Given the description of an element on the screen output the (x, y) to click on. 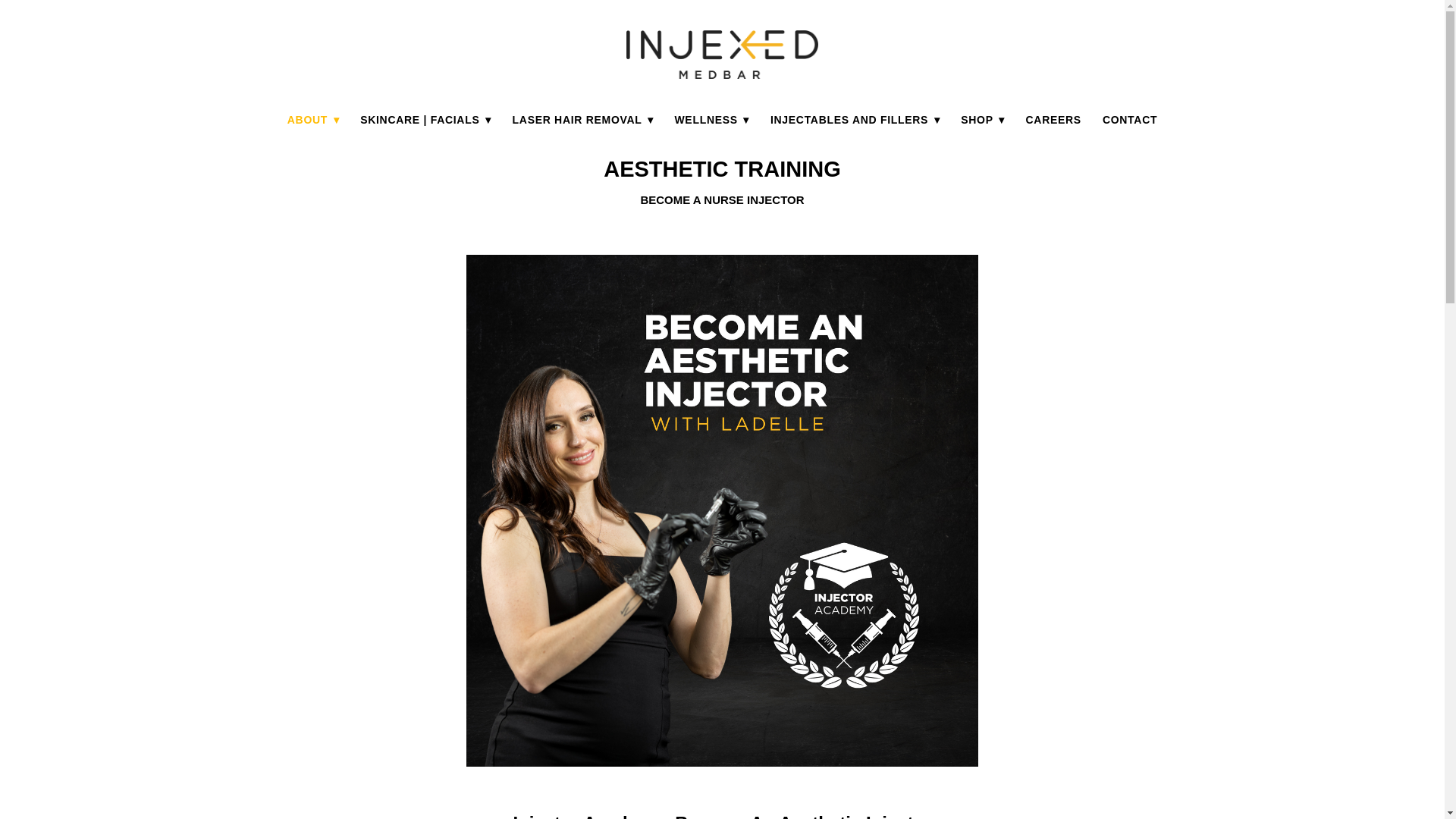
CONTACT (1129, 119)
CAREERS (1053, 119)
INJEXED MEDSPA (722, 54)
